Given the description of an element on the screen output the (x, y) to click on. 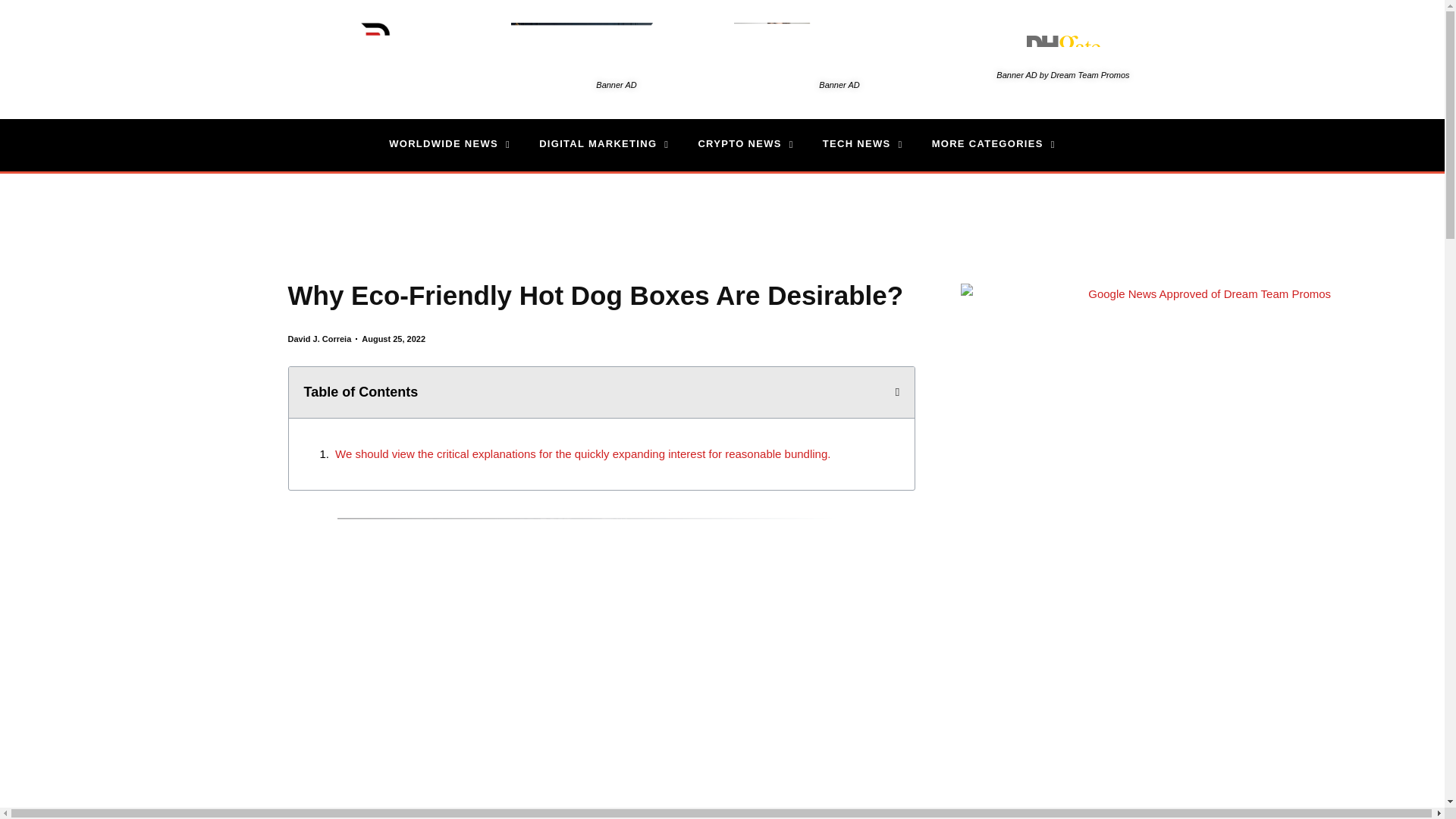
DIGITAL MARKETING (603, 144)
TECH NEWS (862, 144)
CRYPTO NEWS (745, 144)
WORLDWIDE NEWS (449, 144)
